Given the description of an element on the screen output the (x, y) to click on. 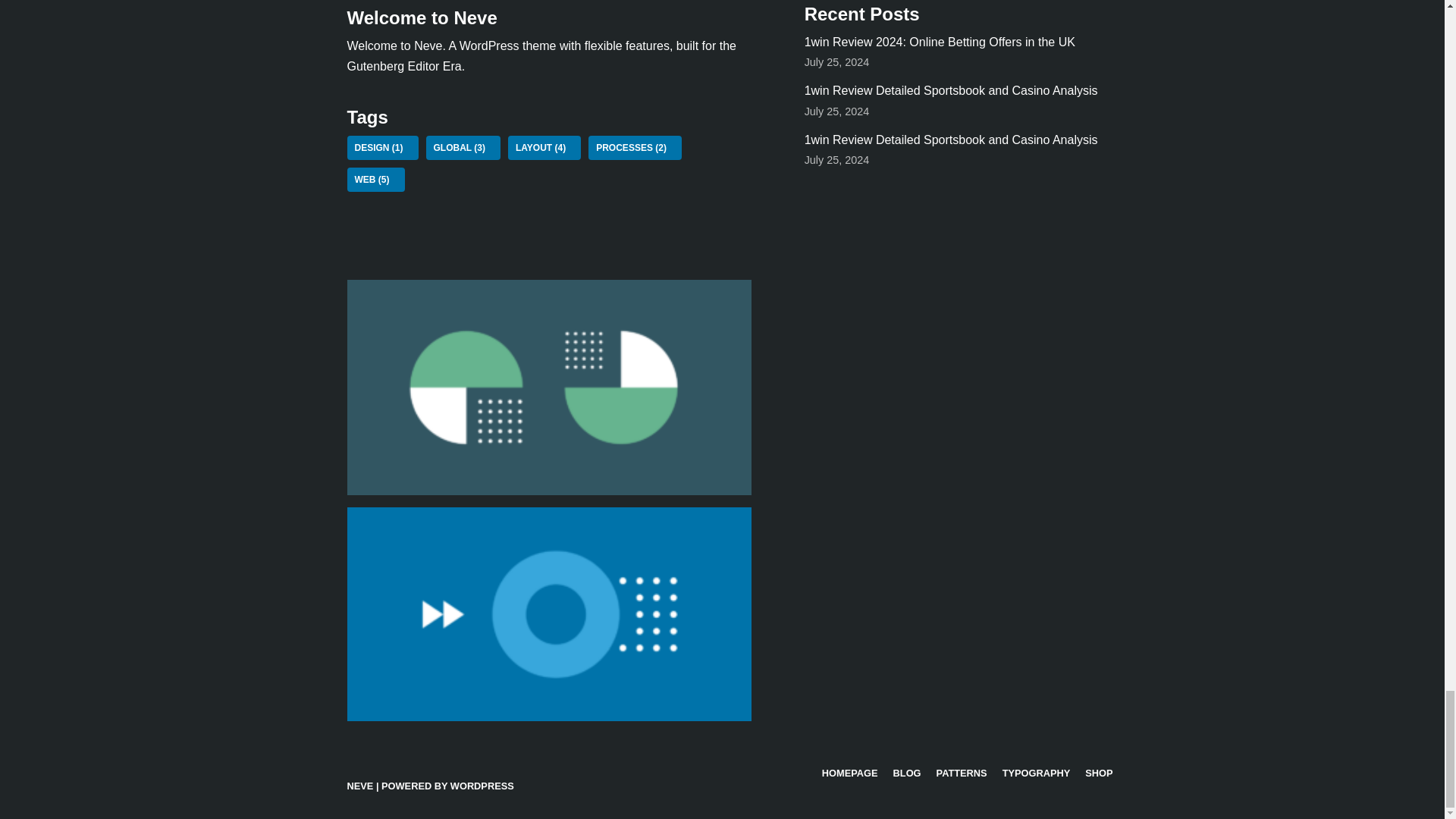
1win Review 2024: Online Betting Offers in the UK (940, 42)
WORDPRESS (481, 785)
NEVE (360, 785)
1win Review Detailed Sportsbook and Casino Analysis (951, 139)
1win Review Detailed Sportsbook and Casino Analysis (951, 90)
